Given the description of an element on the screen output the (x, y) to click on. 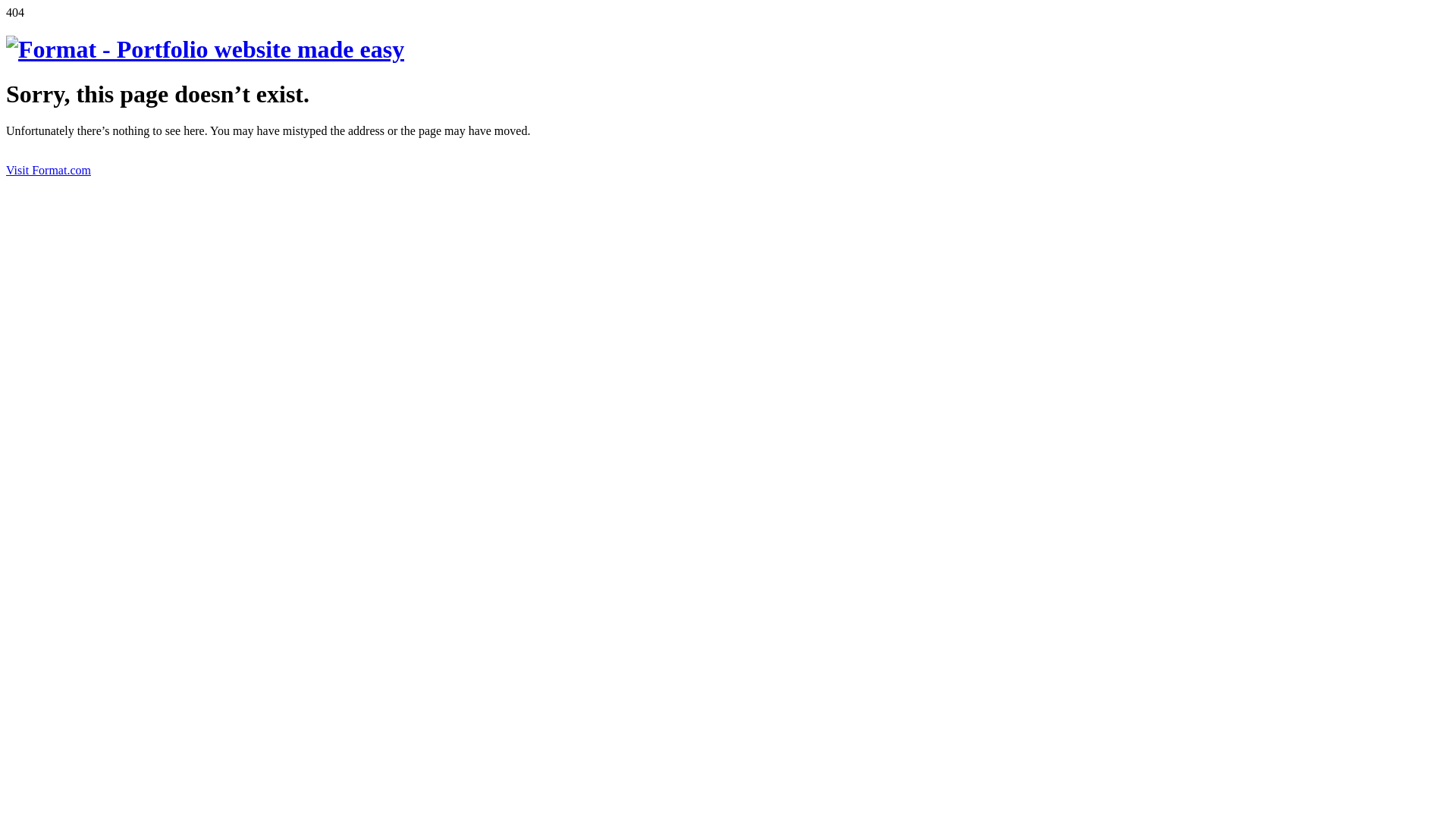
Visit Format.com Element type: text (48, 169)
